Given the description of an element on the screen output the (x, y) to click on. 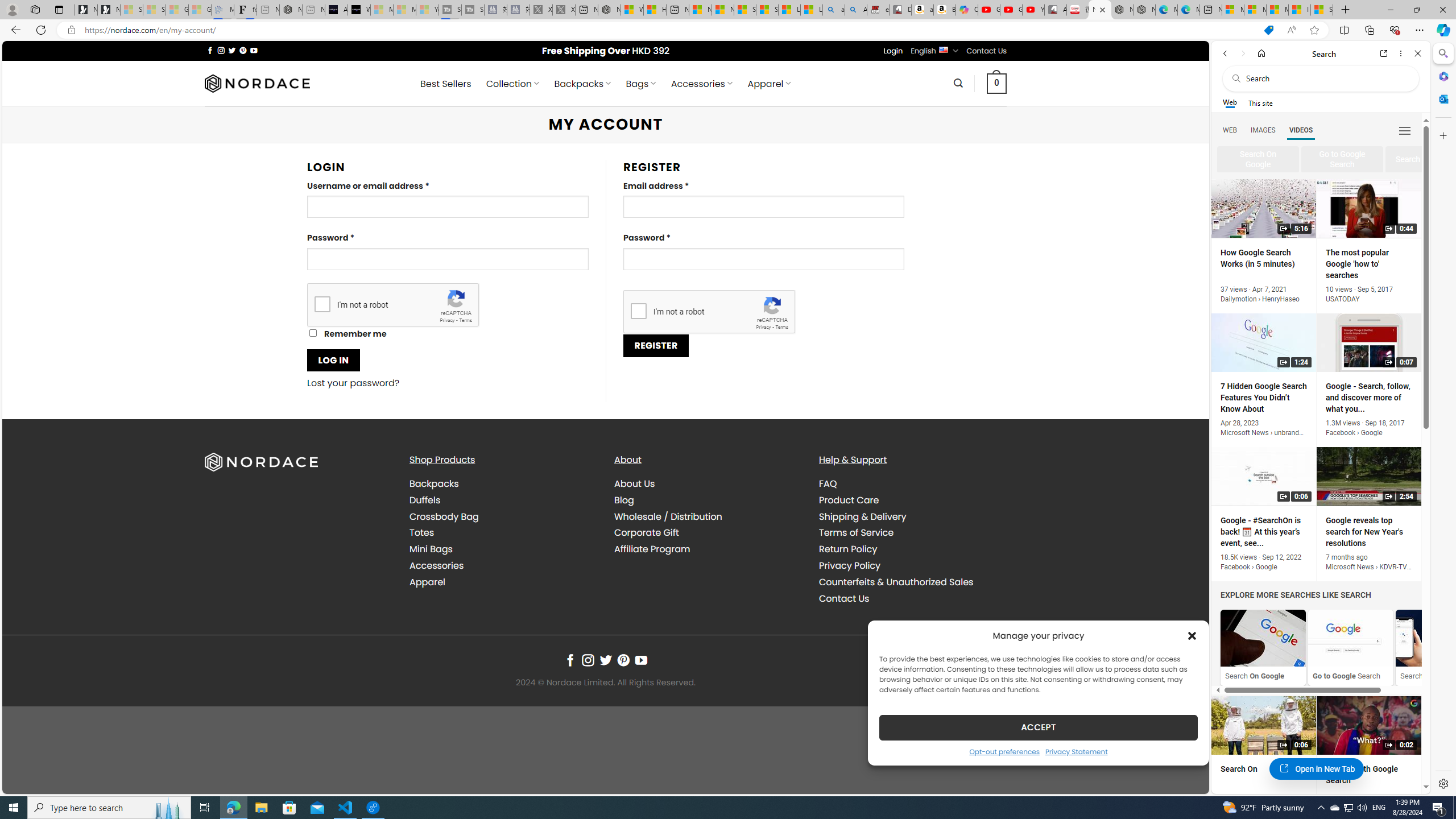
All Cubot phones (1055, 9)
IMAGES (1262, 130)
Search Filter, IMAGES (1262, 129)
This site scope (1259, 102)
Preferences (1403, 129)
Go to Google Search (1350, 637)
X - Sleeping (563, 9)
Microsoft account | Privacy (1255, 9)
